Given the description of an element on the screen output the (x, y) to click on. 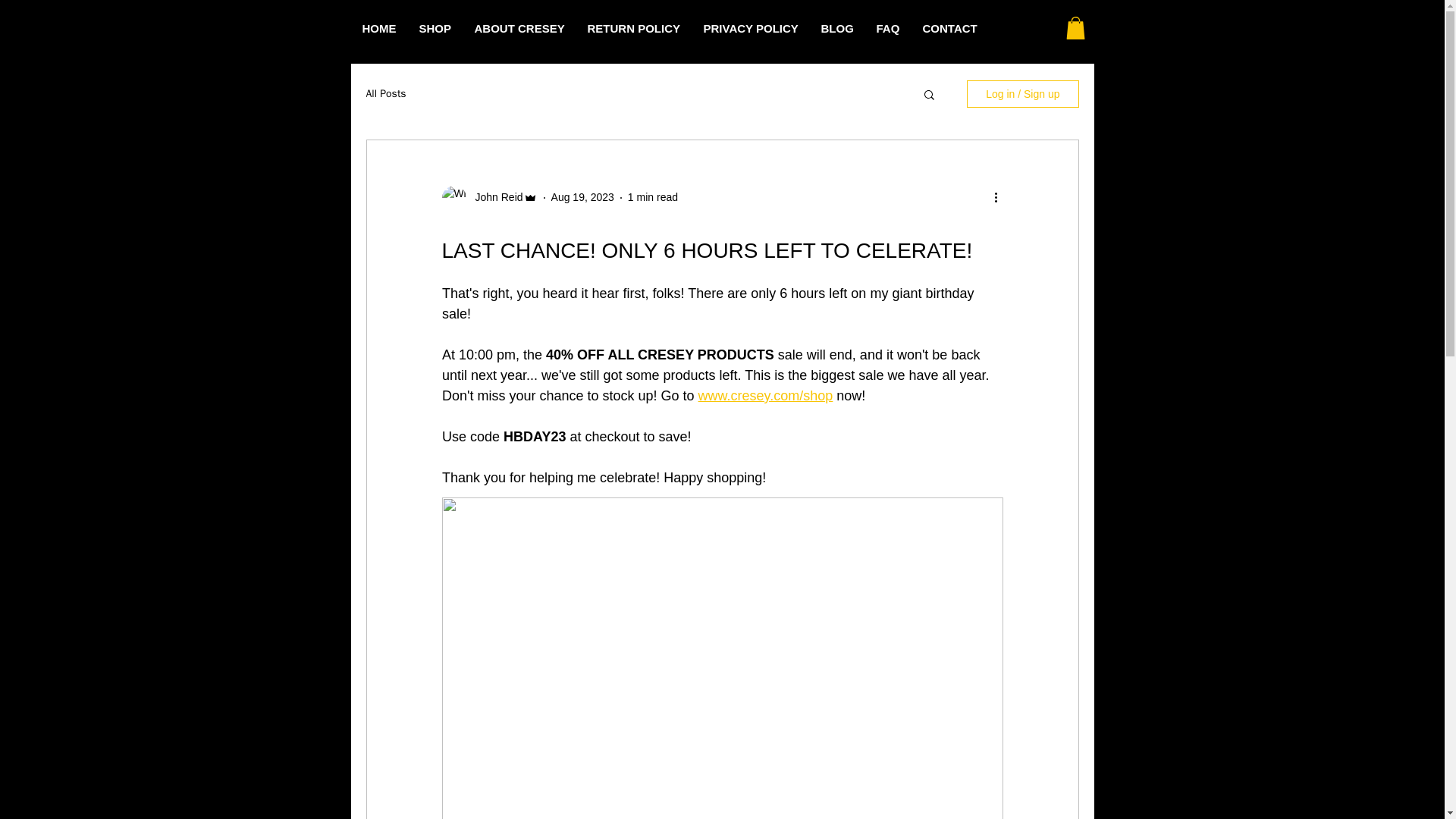
ABOUT CRESEY (519, 28)
CONTACT (949, 28)
1 min read (652, 196)
PRIVACY POLICY (750, 28)
FAQ (887, 28)
John Reid (493, 197)
HOME (378, 28)
SHOP (435, 28)
BLOG (836, 28)
RETURN POLICY (634, 28)
